Given the description of an element on the screen output the (x, y) to click on. 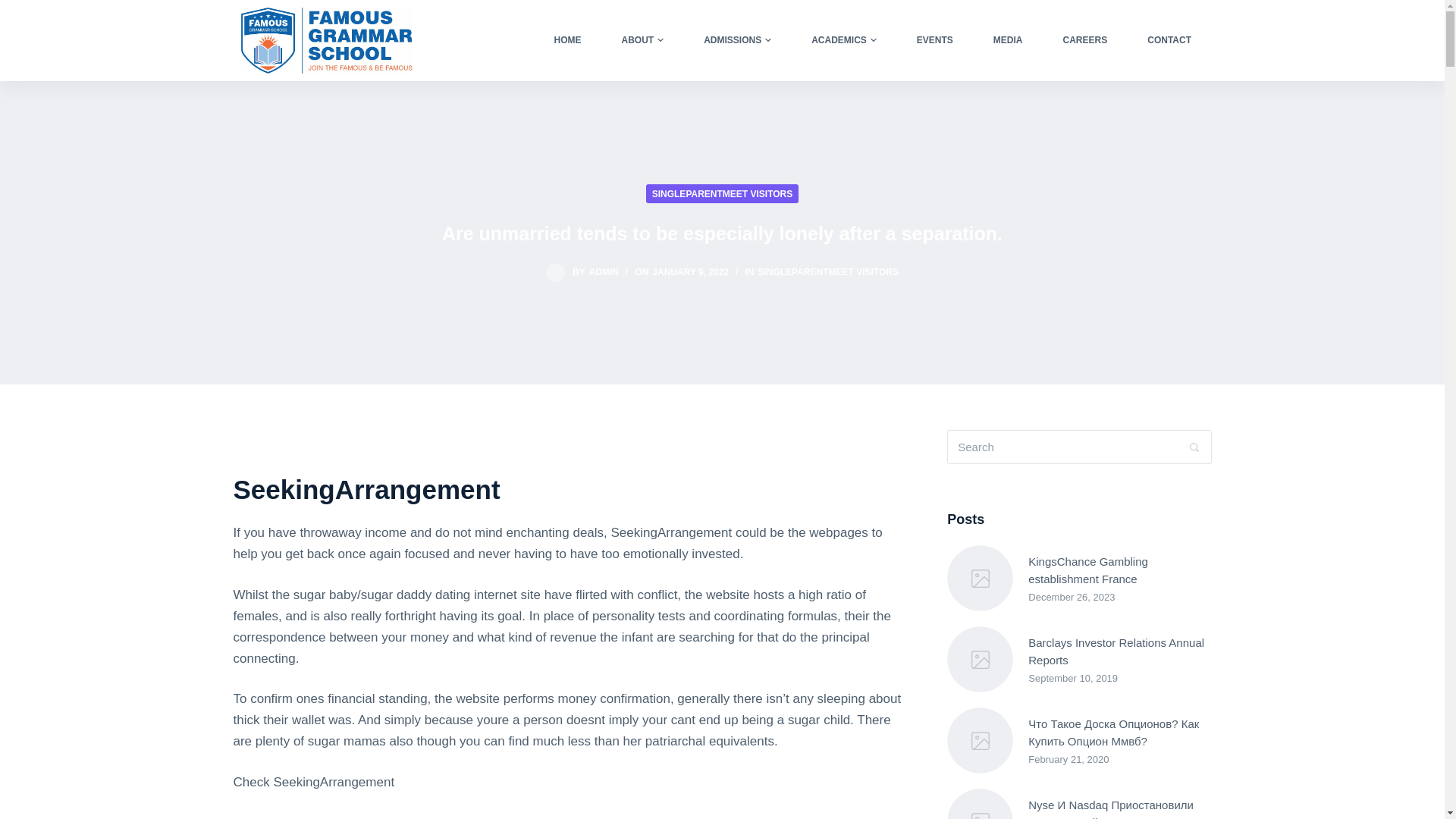
Skip to content (15, 7)
HOME (567, 39)
Posts by admin (603, 271)
Search Input (1079, 446)
